Given the description of an element on the screen output the (x, y) to click on. 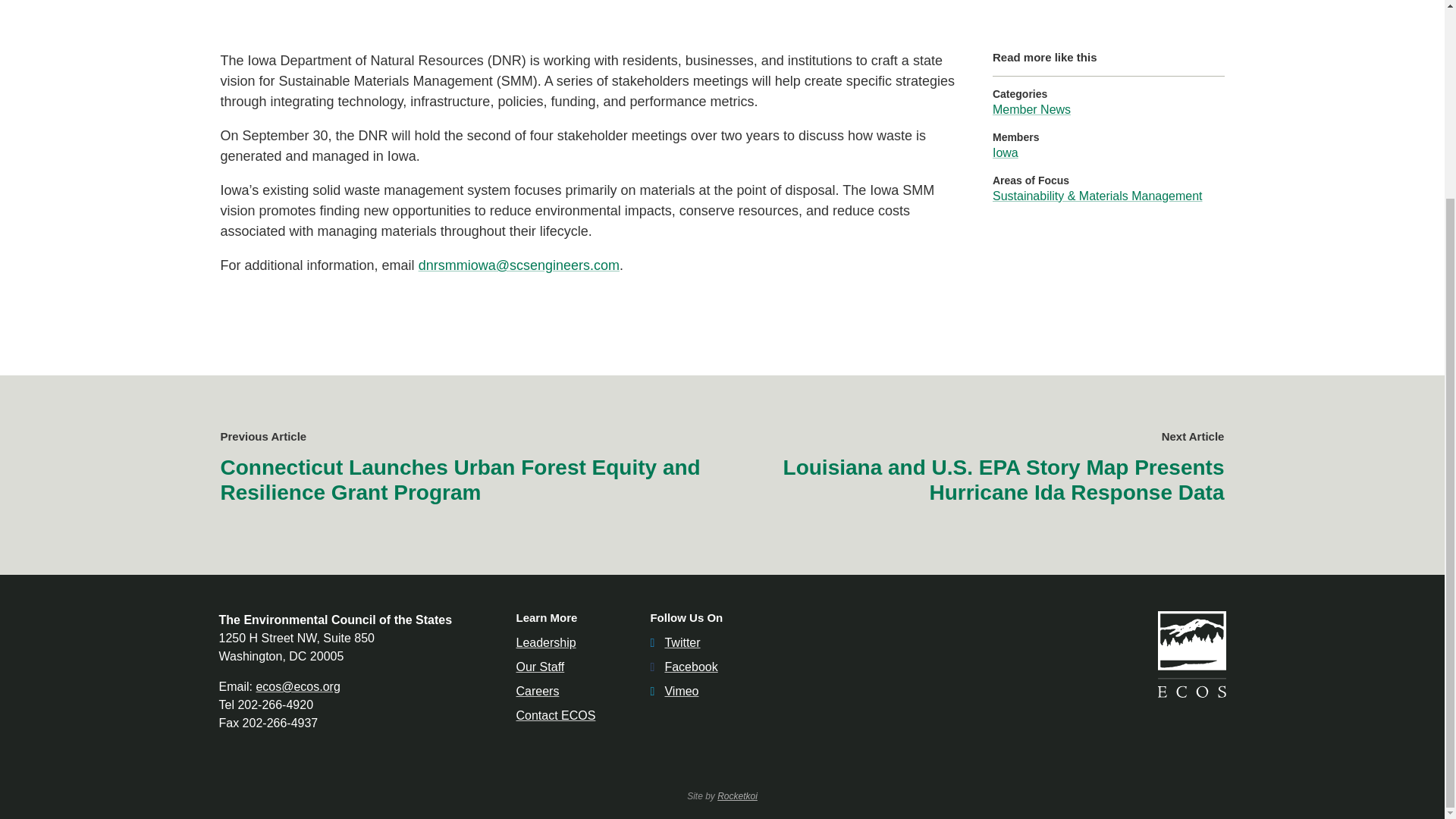
Vimeo (673, 690)
Facebook (683, 666)
Leadership (545, 642)
Twitter (674, 642)
Our Staff (539, 666)
Rocketkoi (737, 796)
Contact ECOS (555, 715)
Member News (1031, 109)
Iowa (1004, 152)
Careers (537, 690)
